Given the description of an element on the screen output the (x, y) to click on. 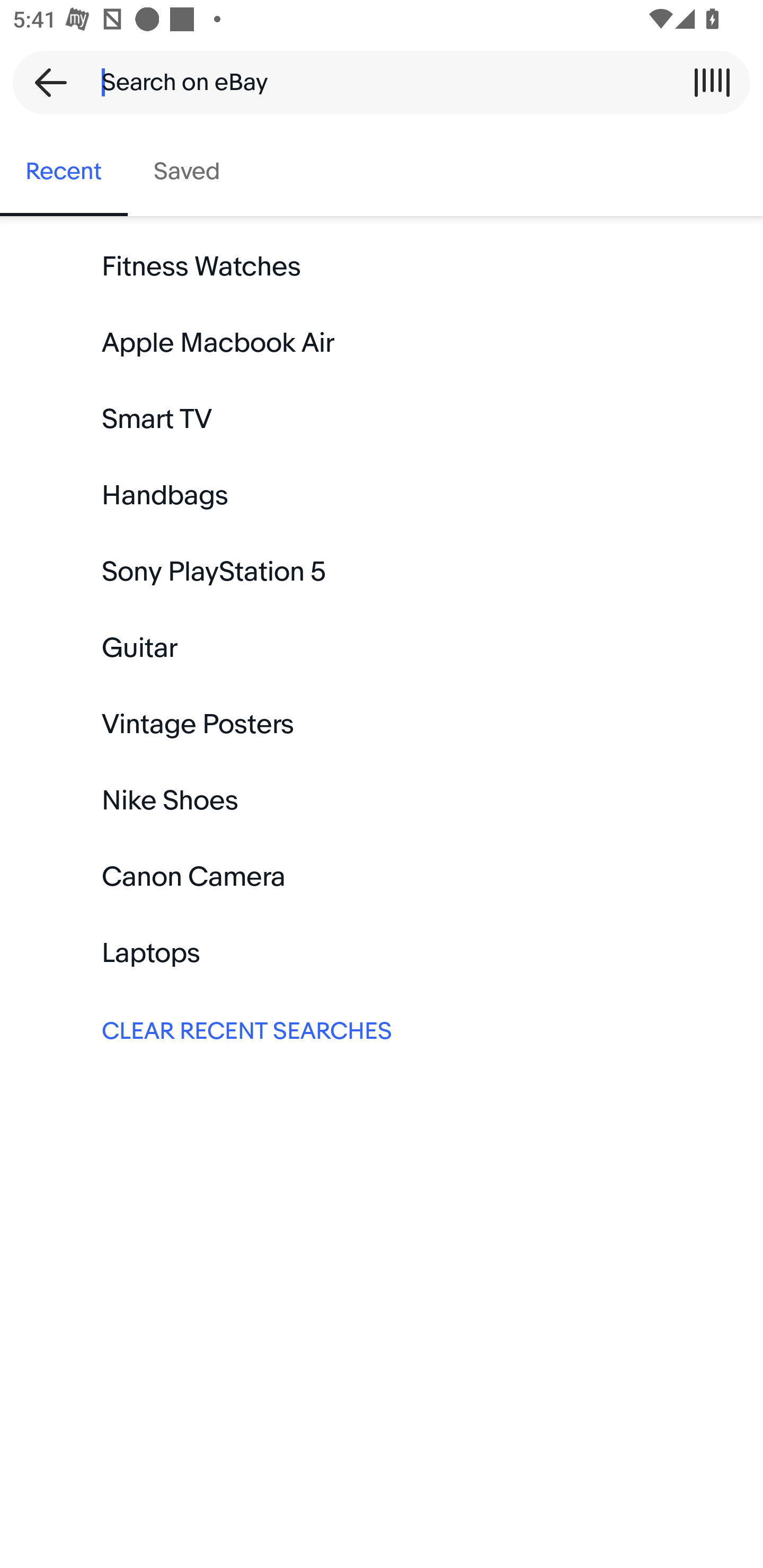
Back (44, 82)
Scan a barcode (711, 82)
Search on eBay (375, 82)
Saved, tab 2 of 2 Saved (186, 171)
Fitness Watches Keyword search Fitness Watches: (381, 266)
Smart TV Keyword search Smart TV: (381, 419)
Handbags Keyword search Handbags: (381, 495)
Guitar Keyword search Guitar: (381, 647)
Vintage Posters Keyword search Vintage Posters: (381, 724)
Nike Shoes Keyword search Nike Shoes: (381, 800)
Canon Camera Keyword search Canon Camera: (381, 876)
Laptops Keyword search Laptops: (381, 952)
CLEAR RECENT SEARCHES (381, 1028)
